Given the description of an element on the screen output the (x, y) to click on. 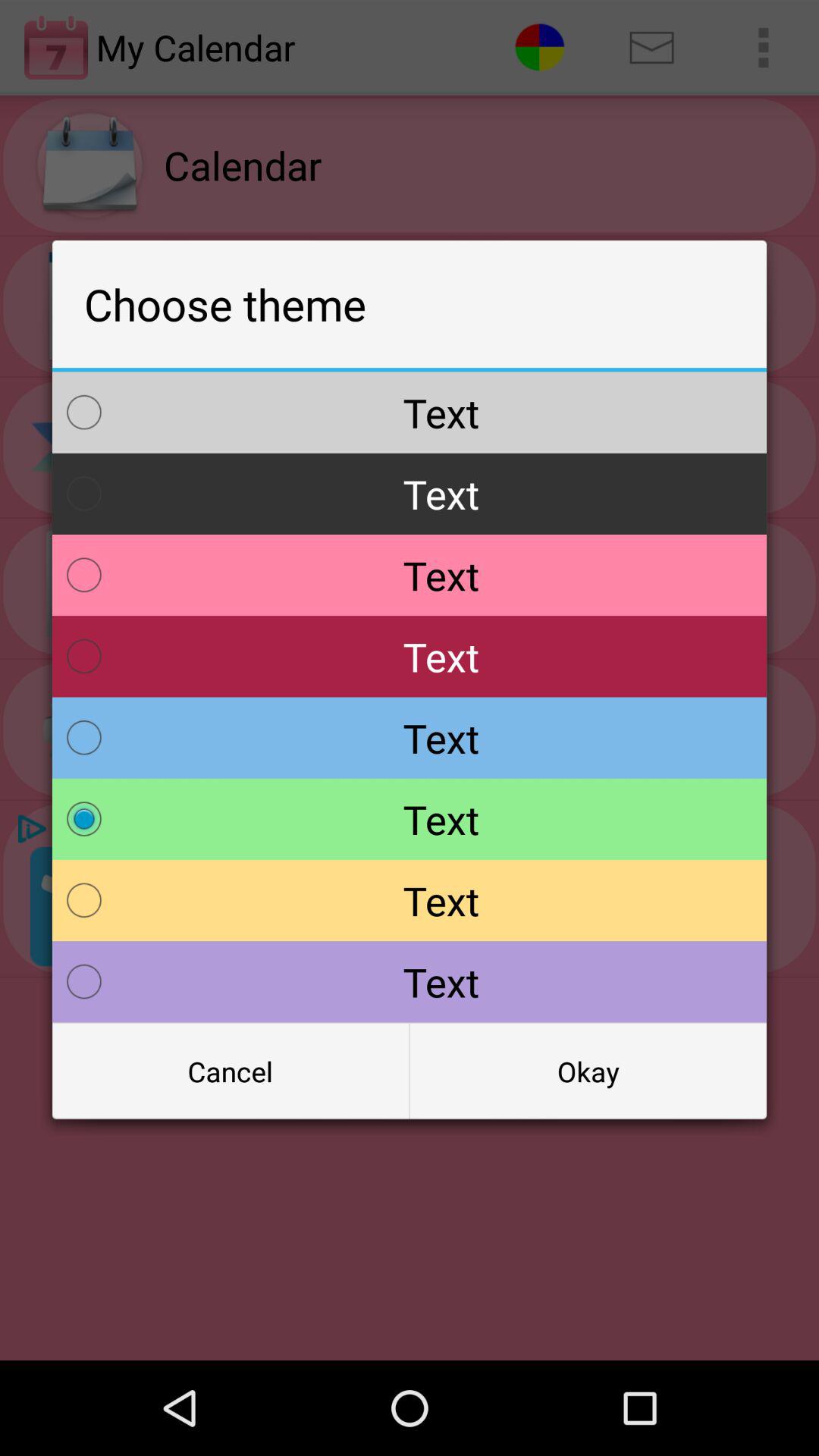
turn off okay item (588, 1071)
